Given the description of an element on the screen output the (x, y) to click on. 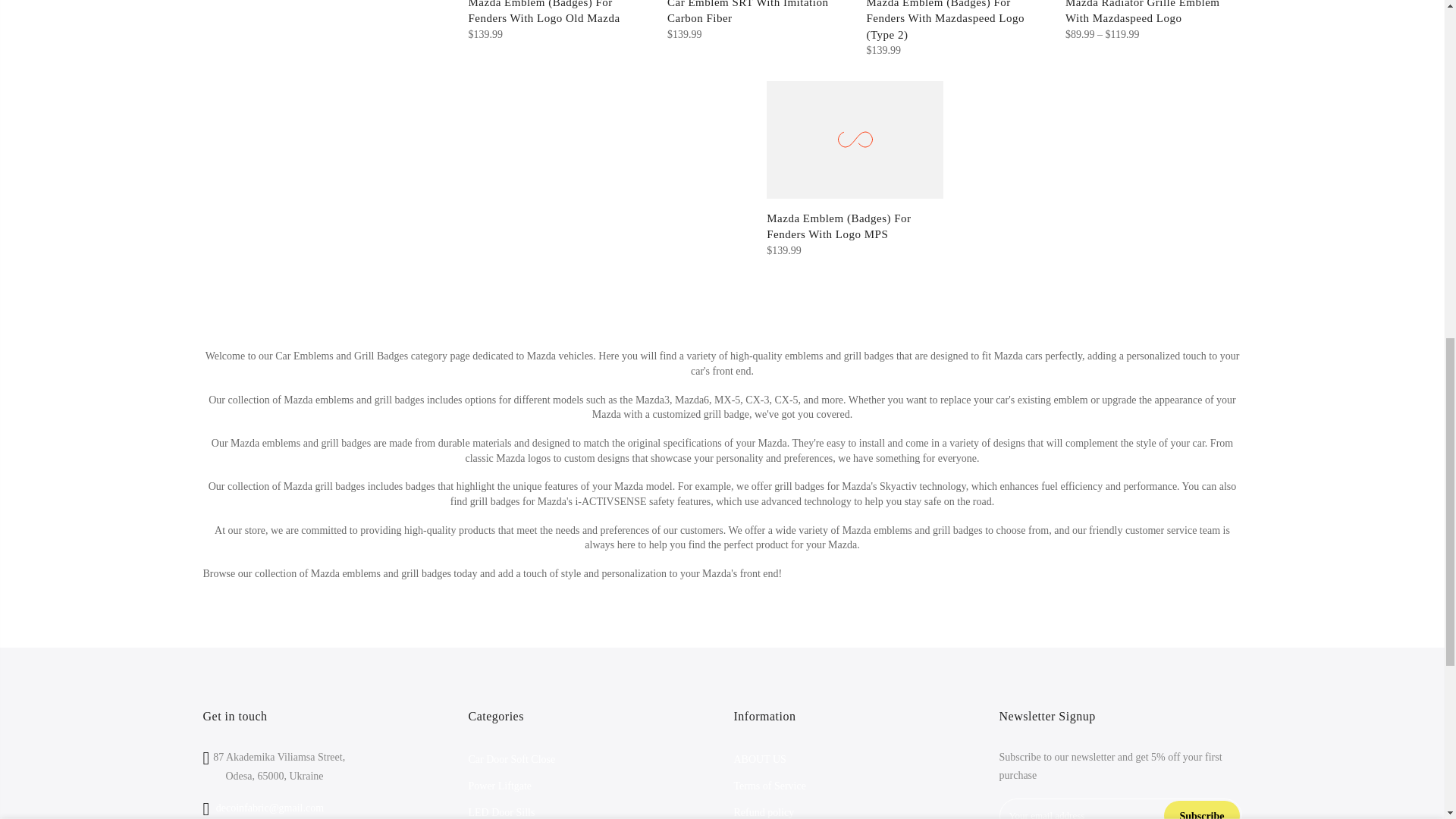
Car Emblem SRT With Imitation Carbon Fiber (747, 12)
